Given the description of an element on the screen output the (x, y) to click on. 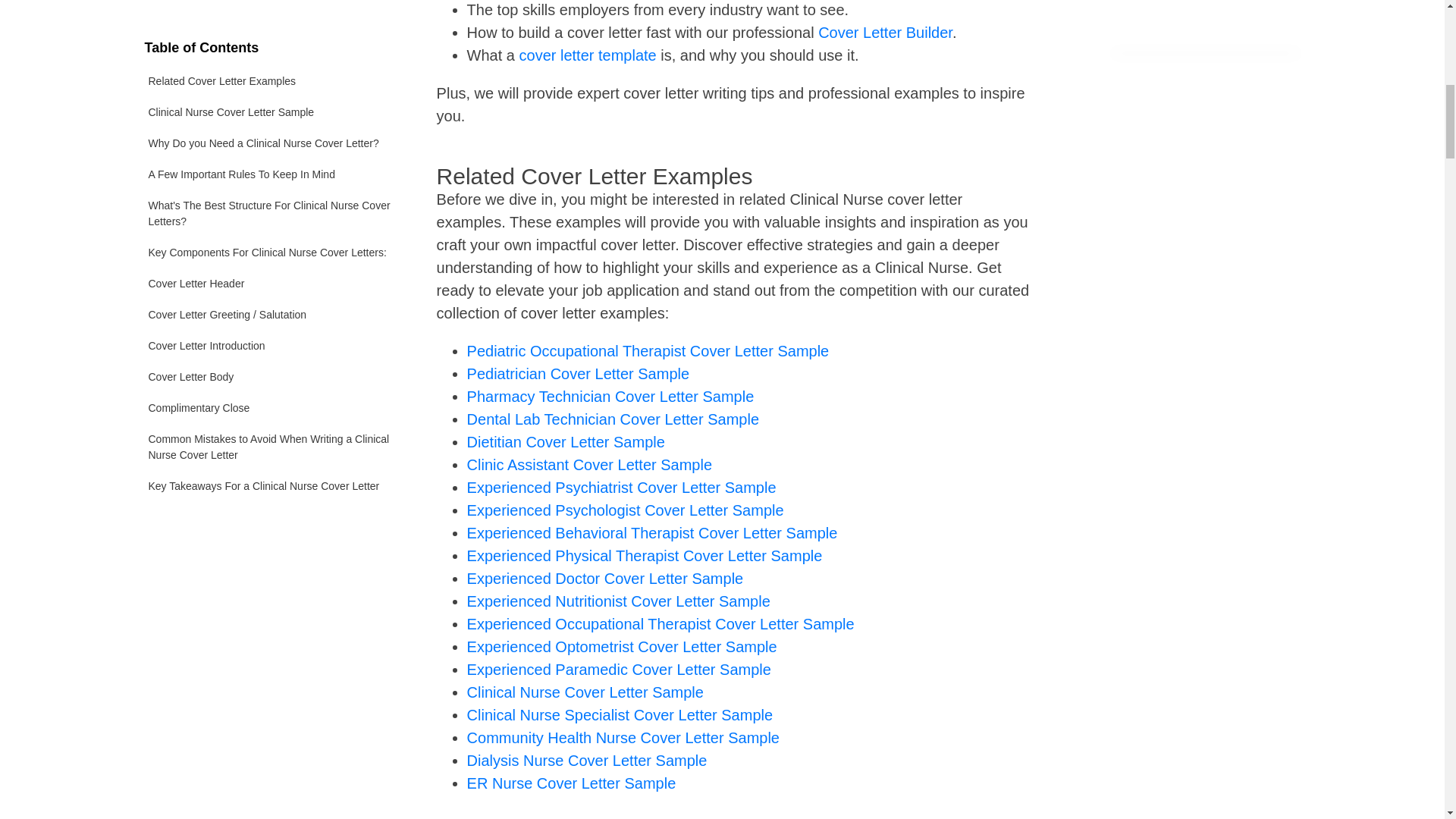
Clinic Assistant Cover Letter Sample (589, 464)
cover letter template (587, 54)
Key Components For Clinical Nurse Cover Letters: (270, 23)
Dietitian Cover Letter Sample (566, 442)
Key Takeaways For a Clinical Nurse Cover Letter (270, 256)
Cover Letter Body (270, 147)
Dental Lab Technician Cover Letter Sample (612, 419)
What's The Best Structure For Clinical Nurse Cover Letters? (270, 4)
Cover Letter Builder (885, 32)
Pediatric Occupational Therapist Cover Letter Sample (648, 351)
Pharmacy Technician Cover Letter Sample (610, 396)
Complimentary Close (270, 178)
Cover Letter Introduction (270, 116)
Cover Letter Header (270, 54)
